Given the description of an element on the screen output the (x, y) to click on. 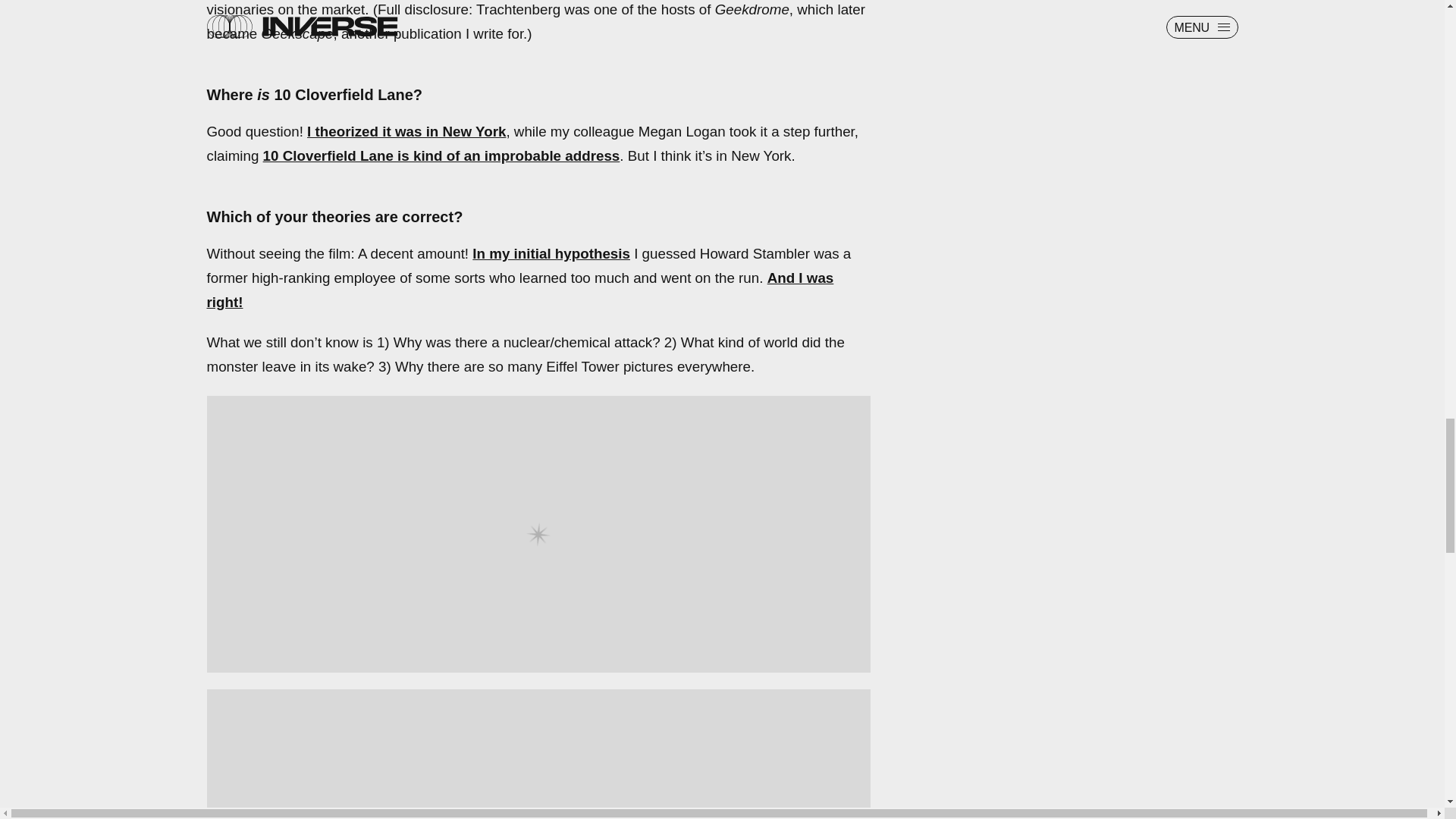
I theorized it was in New York (406, 131)
And I was right! (519, 290)
10 Cloverfield Lane is kind of an improbable address (441, 155)
In my initial hypothesis (550, 253)
